Given the description of an element on the screen output the (x, y) to click on. 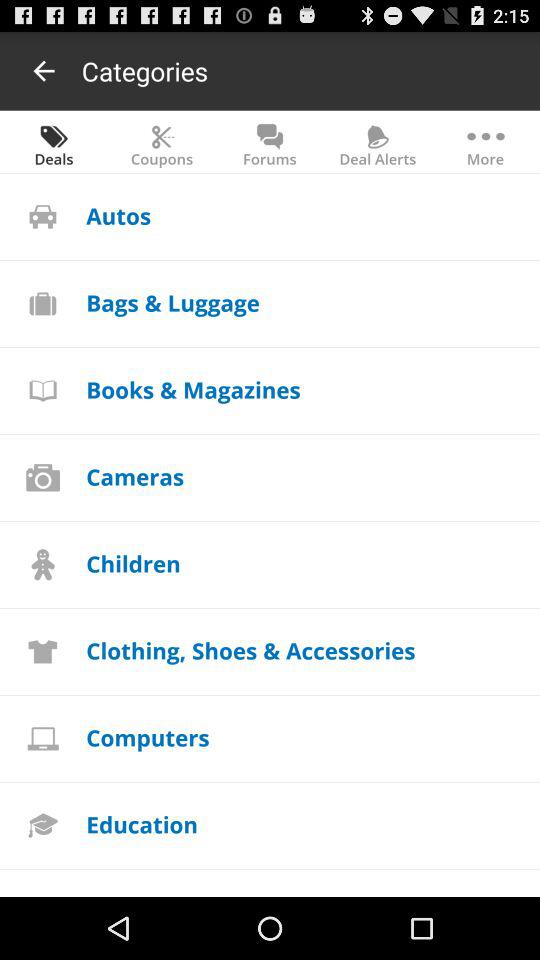
scroll until clothing, shoes & accessories (250, 650)
